Given the description of an element on the screen output the (x, y) to click on. 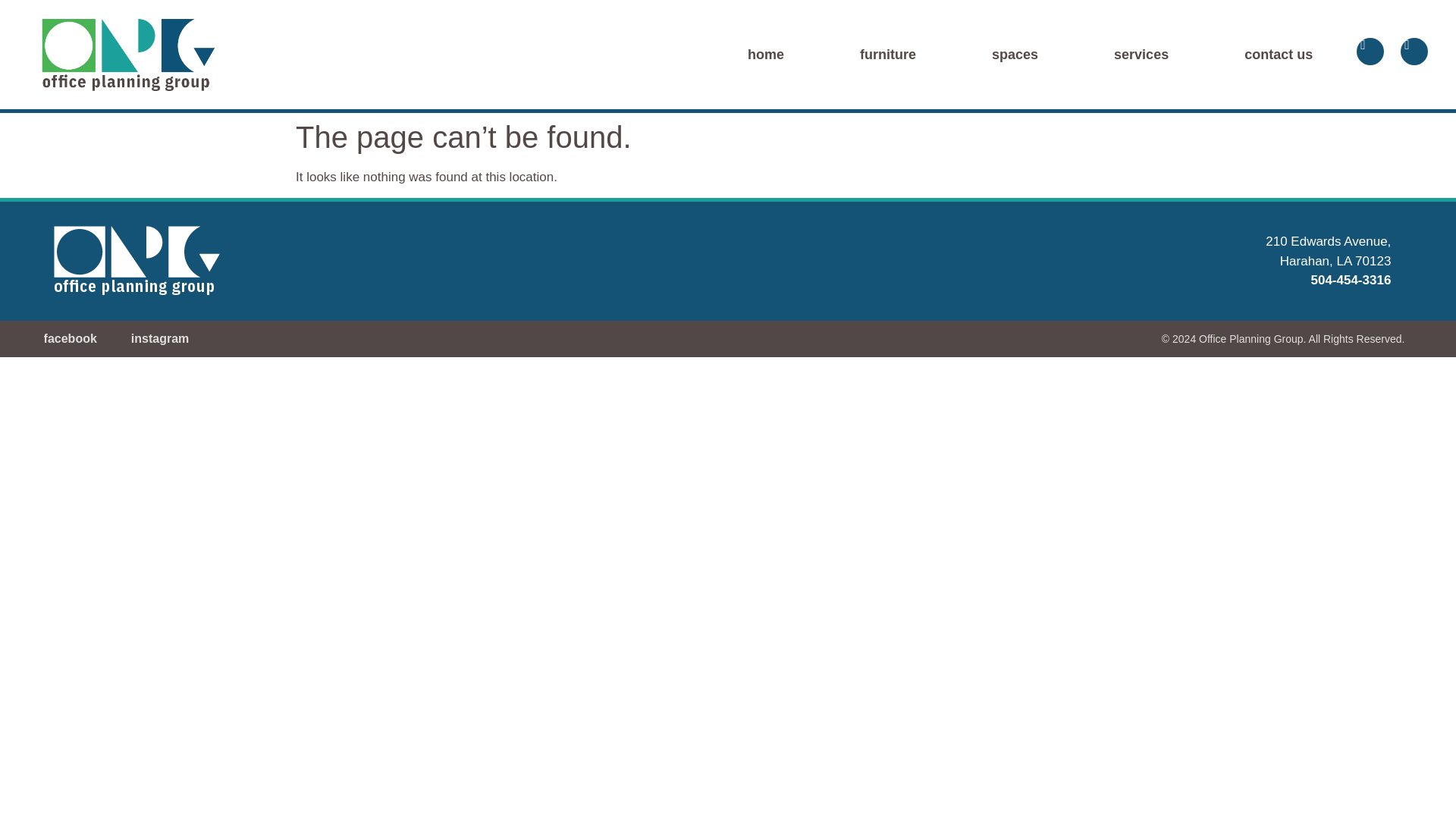
home (765, 54)
furniture (887, 54)
contact us (1277, 54)
services (1141, 54)
spaces (1014, 54)
